Given the description of an element on the screen output the (x, y) to click on. 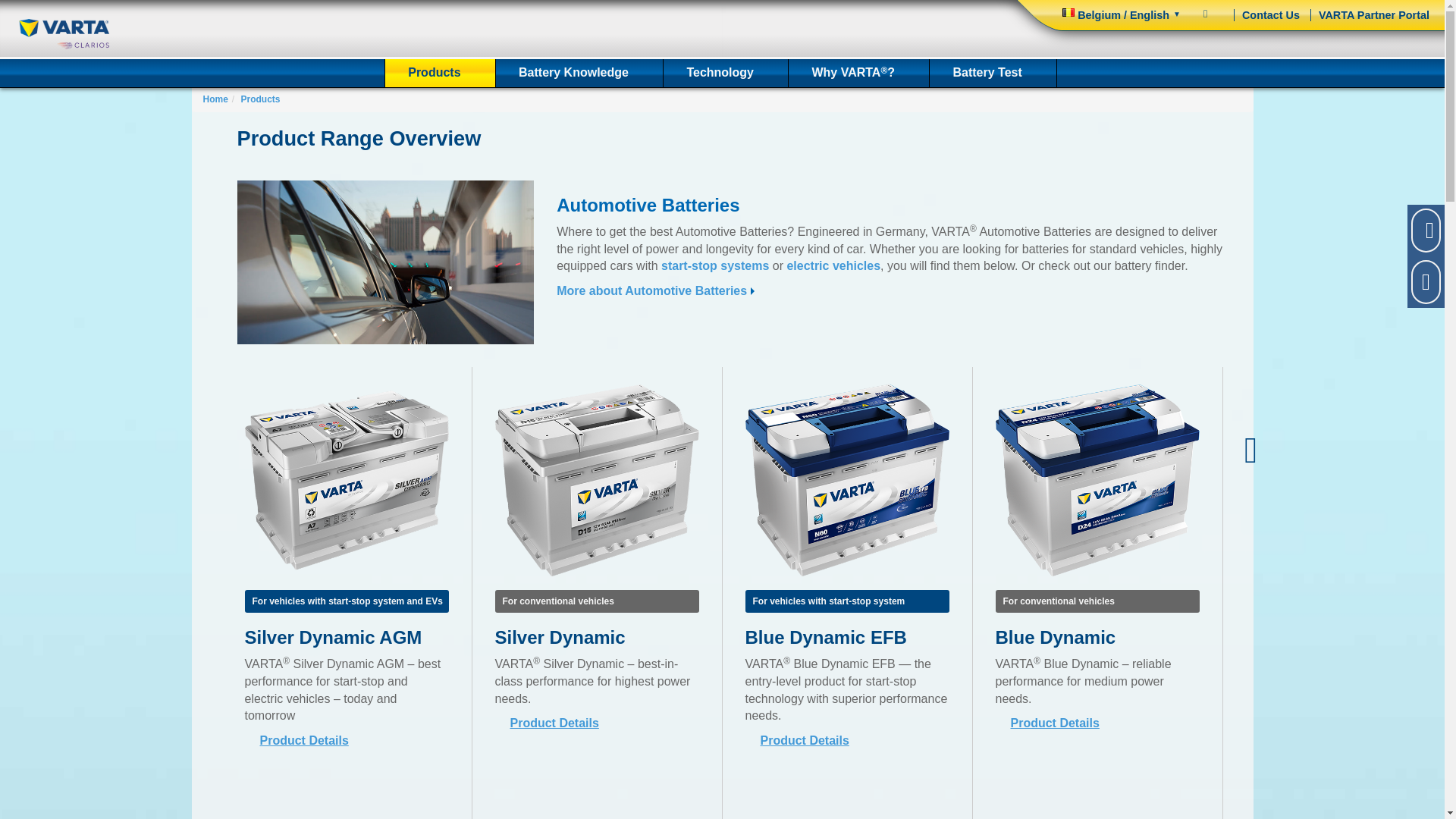
Products (440, 72)
Technology (725, 72)
Battery Test (992, 72)
Battery Knowledge (579, 72)
